Given the description of an element on the screen output the (x, y) to click on. 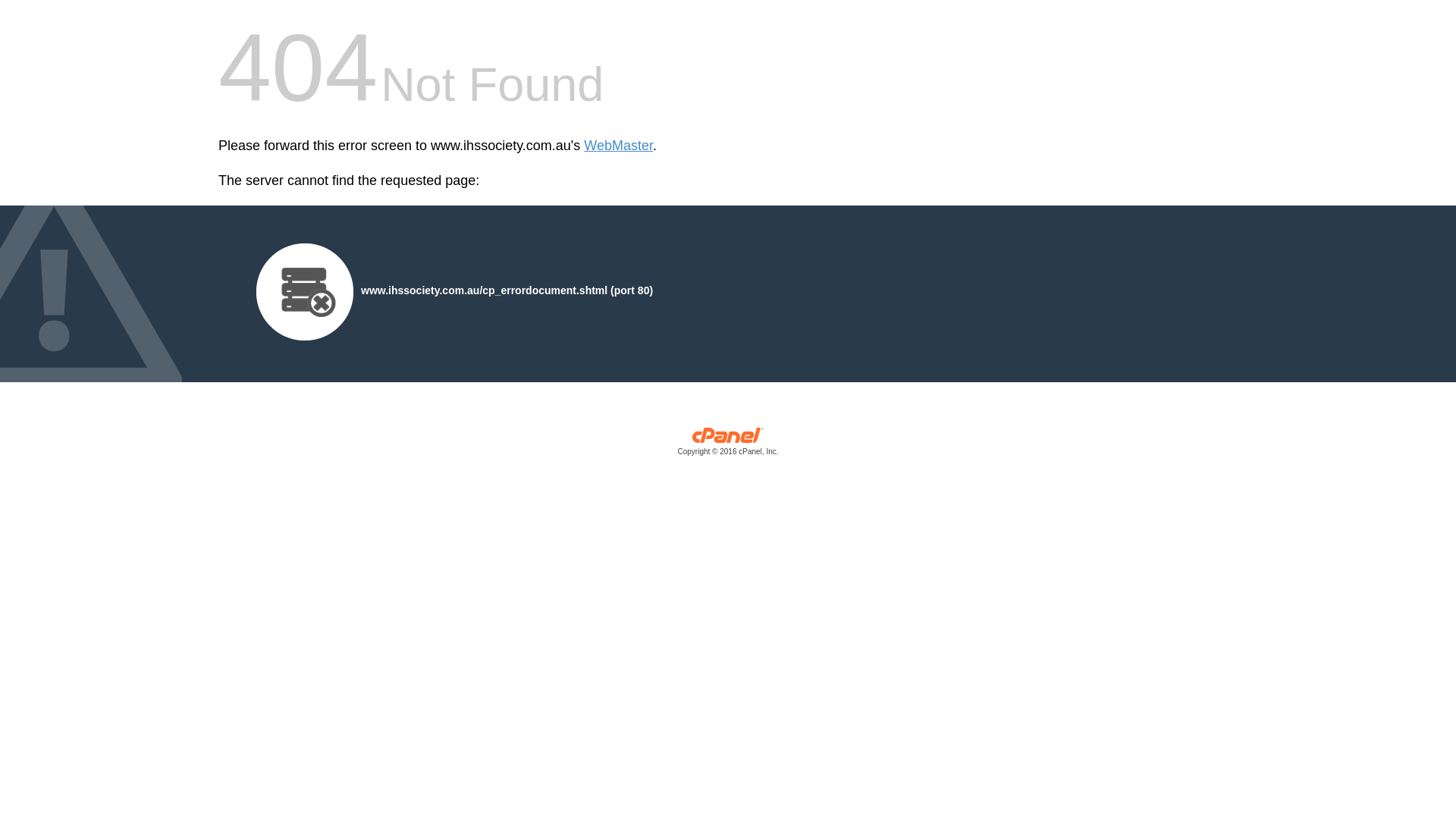
WebMaster Element type: text (617, 145)
